Given the description of an element on the screen output the (x, y) to click on. 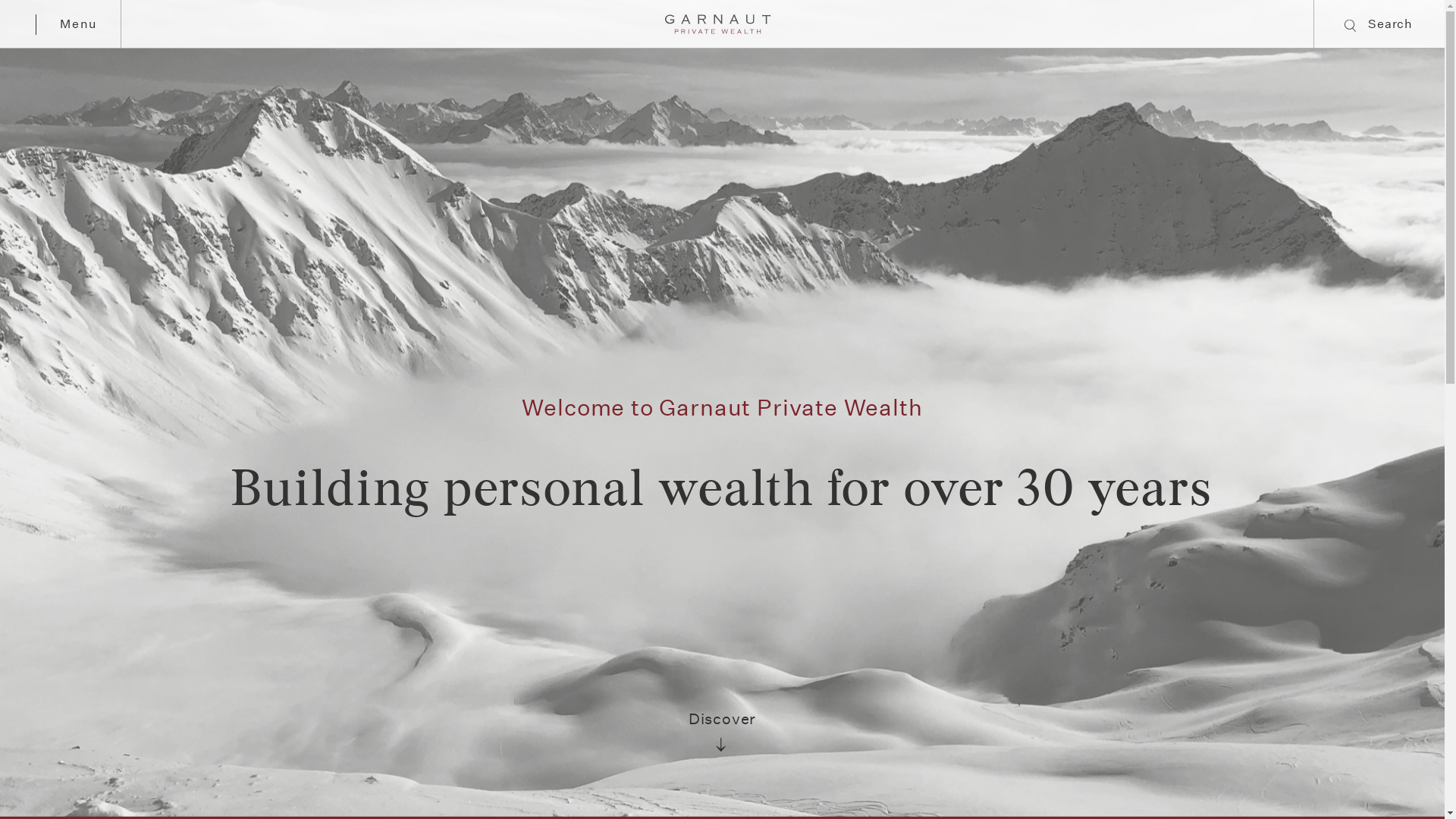
Search Element type: text (1210, 229)
